Given the description of an element on the screen output the (x, y) to click on. 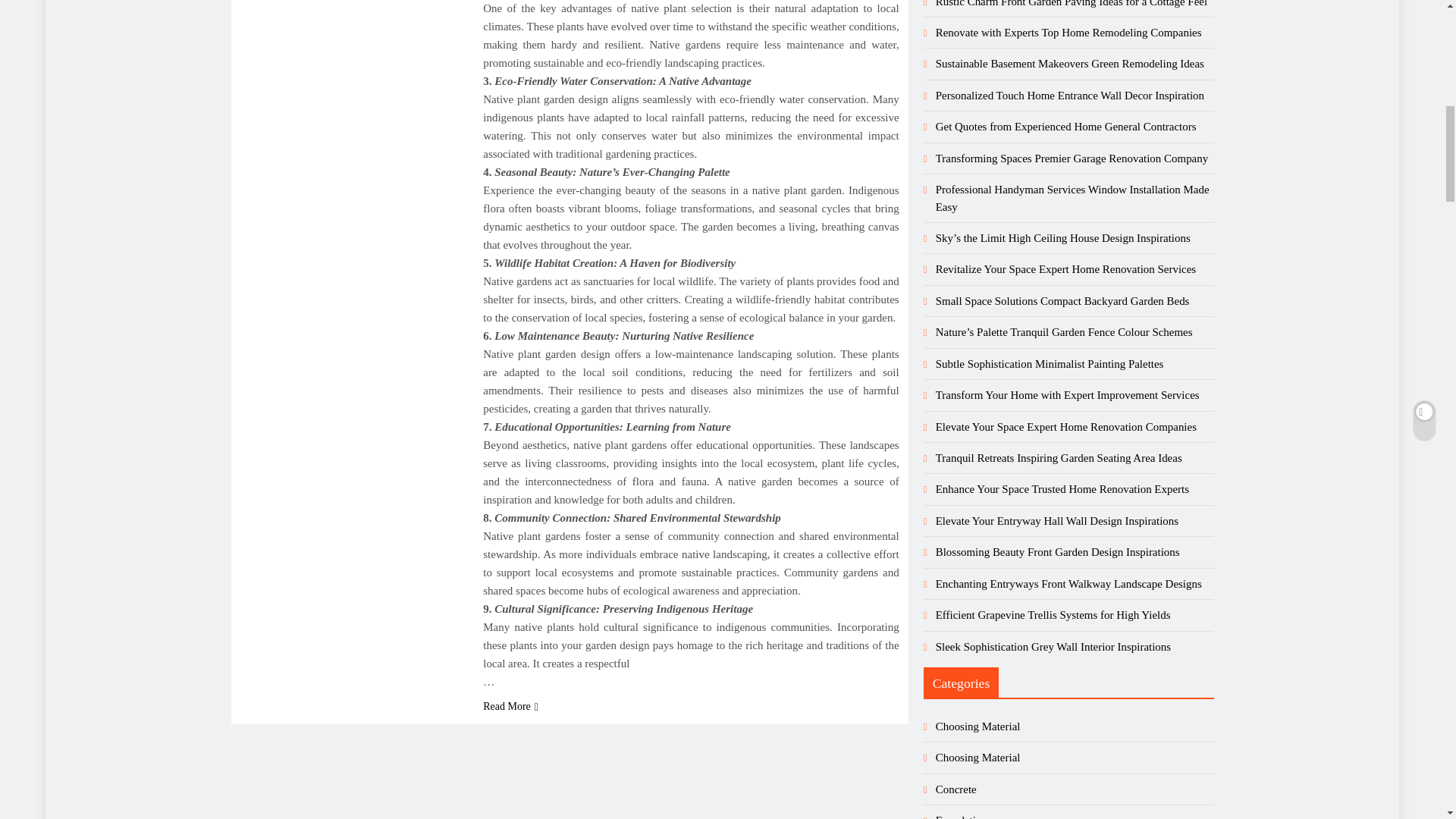
Read More (510, 706)
Rustic Charm Front Garden Paving Ideas for a Cottage Feel (1071, 3)
